Given the description of an element on the screen output the (x, y) to click on. 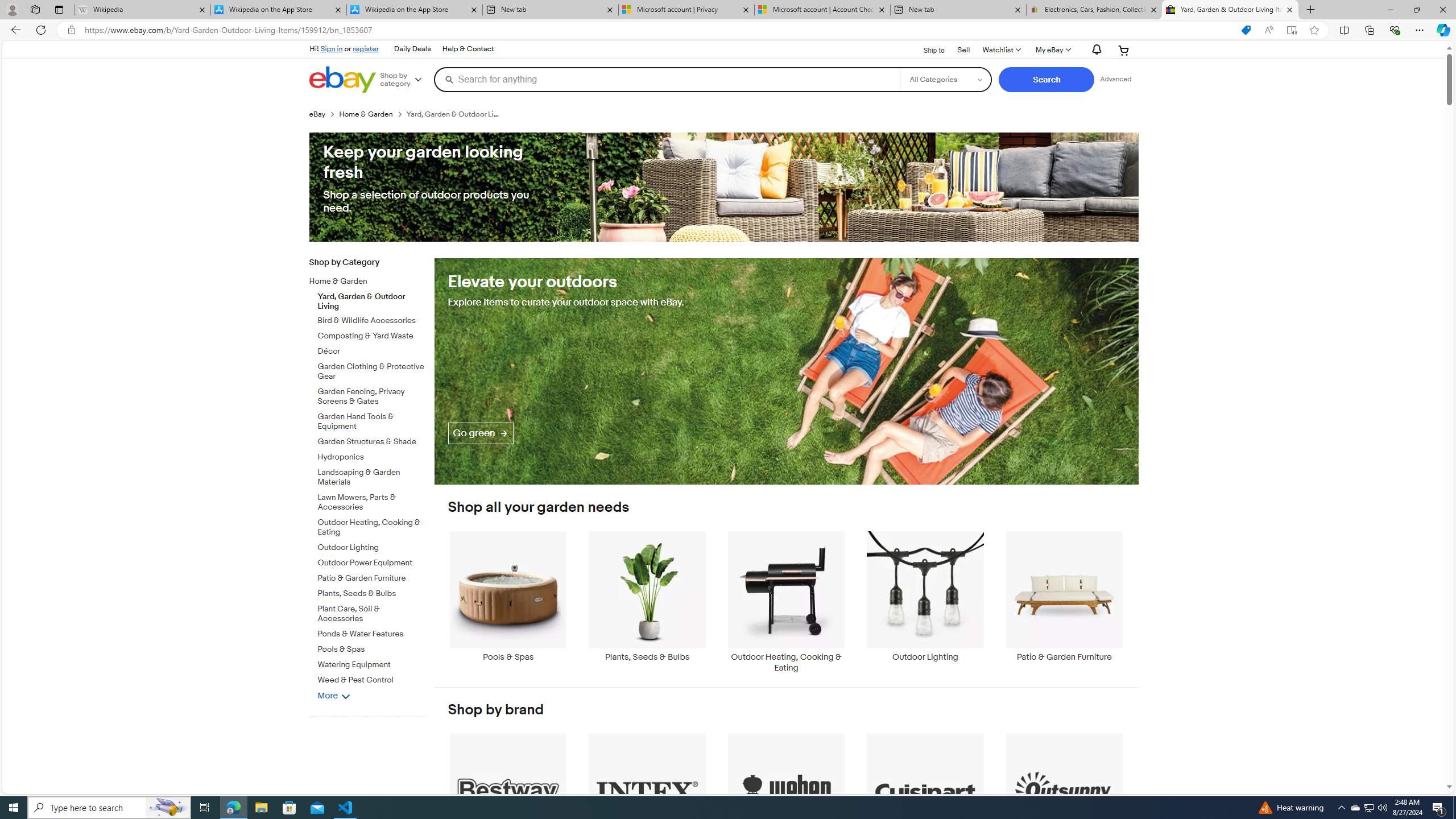
More View more categories (333, 695)
Watering Equipment (371, 662)
Select a category for search (945, 78)
Composting & Yard Waste (371, 335)
Home & Garden (362, 281)
Outdoor Heating, Cooking & Eating (786, 601)
Outdoor Lighting (925, 596)
eBay Home (341, 79)
Elevate your outdoors (785, 370)
Outdoor Power Equipment (371, 562)
Plants, Seeds & Bulbs (646, 601)
Garden Fencing, Privacy Screens & Gates (371, 396)
